Given the description of an element on the screen output the (x, y) to click on. 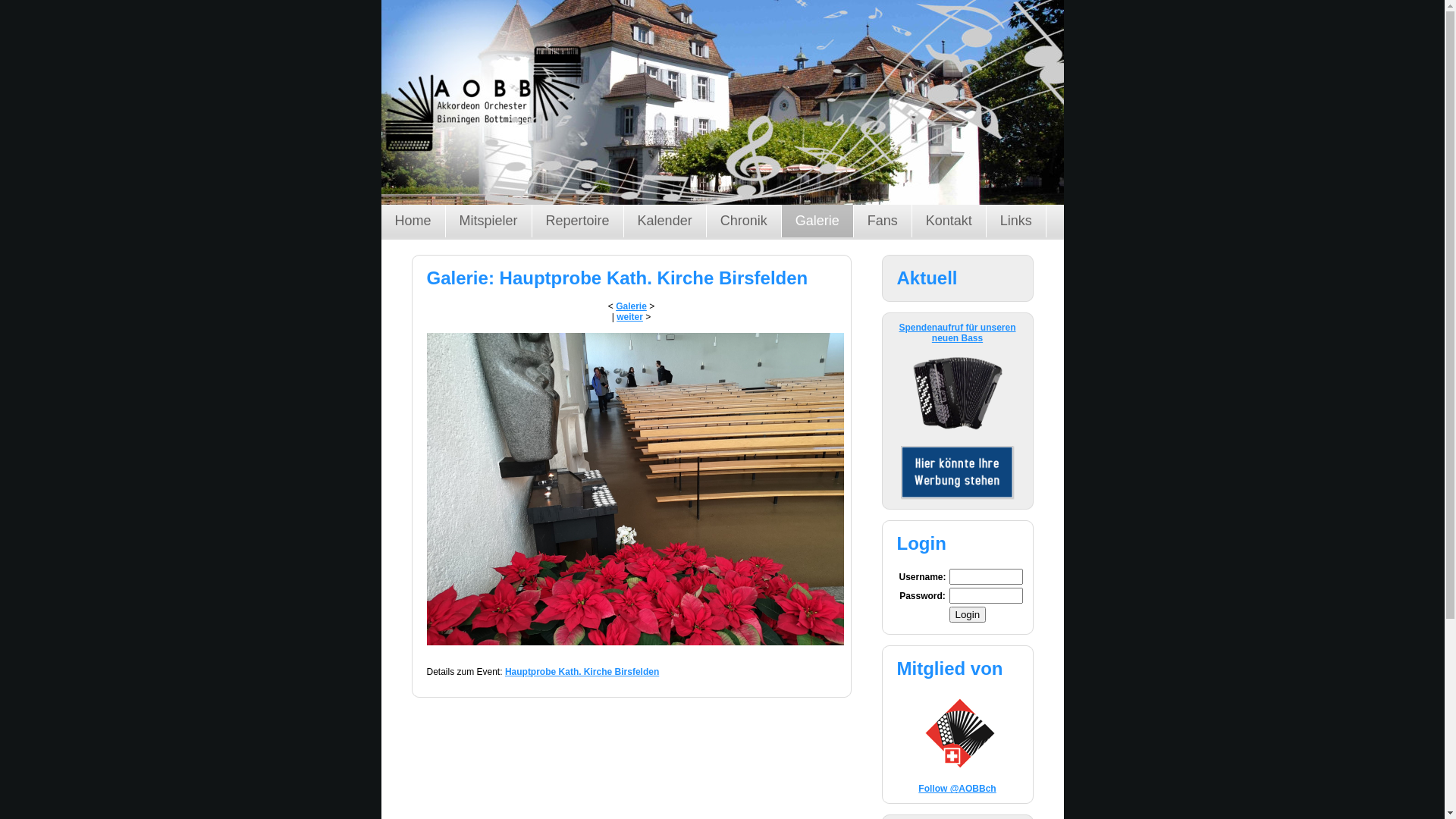
weiter Element type: text (629, 316)
Hauptprobe Kath. Kirche Birsfelden Element type: text (581, 671)
Bass Spenden Element type: hover (957, 442)
Mitspieler Element type: text (488, 220)
Follow @AOBBch Element type: text (956, 788)
Home Element type: text (412, 220)
Fans Element type: text (882, 220)
Links Element type: text (1016, 220)
Chronik Element type: text (743, 220)
Galerie Element type: text (630, 306)
Kalender Element type: text (665, 220)
Galerie Element type: text (817, 220)
Login Element type: text (967, 614)
Kontakt Element type: text (949, 220)
Repertoire Element type: text (578, 220)
